Given the description of an element on the screen output the (x, y) to click on. 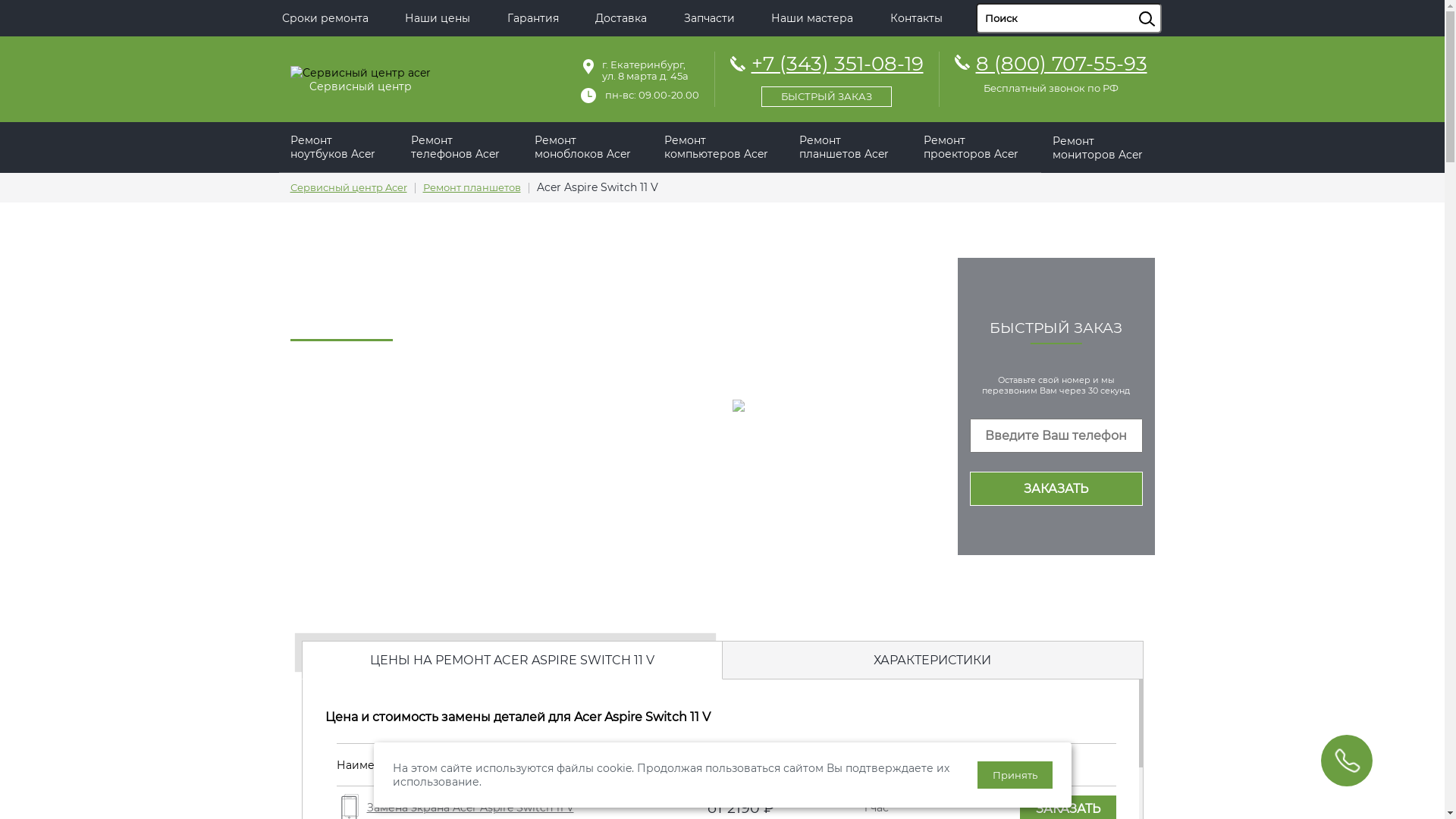
sisea.search Element type: text (1165, 3)
8 (800) 707-55-93 Element type: text (1060, 63)
+7 (343) 351-08-19 Element type: text (825, 77)
